Given the description of an element on the screen output the (x, y) to click on. 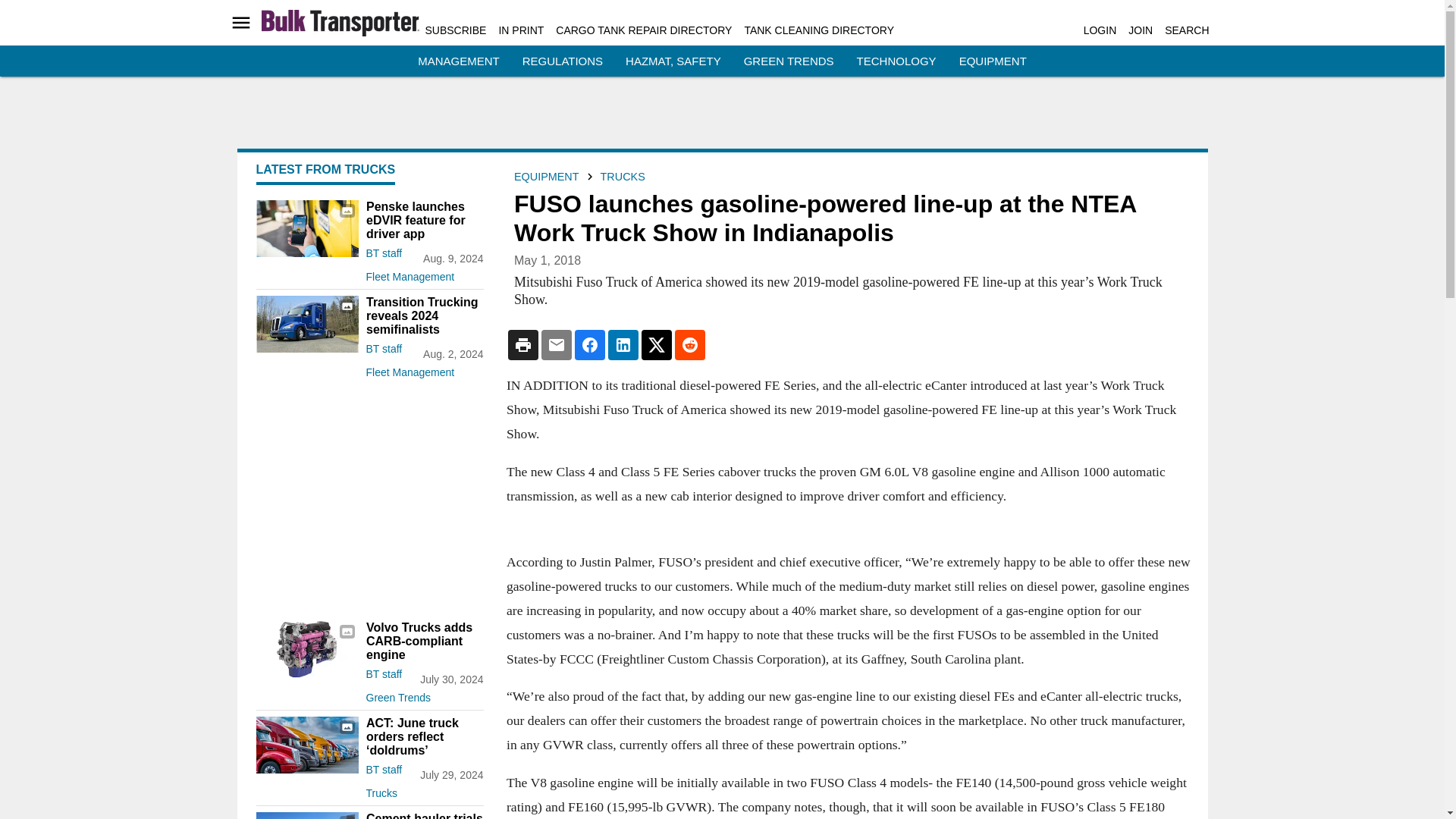
MANAGEMENT (458, 60)
JOIN (1140, 30)
TECHNOLOGY (896, 60)
HAZMAT, SAFETY (673, 60)
GREEN TRENDS (789, 60)
EQUIPMENT (992, 60)
REGULATIONS (562, 60)
SEARCH (1186, 30)
SUBSCRIBE (455, 30)
LOGIN (1099, 30)
